Given the description of an element on the screen output the (x, y) to click on. 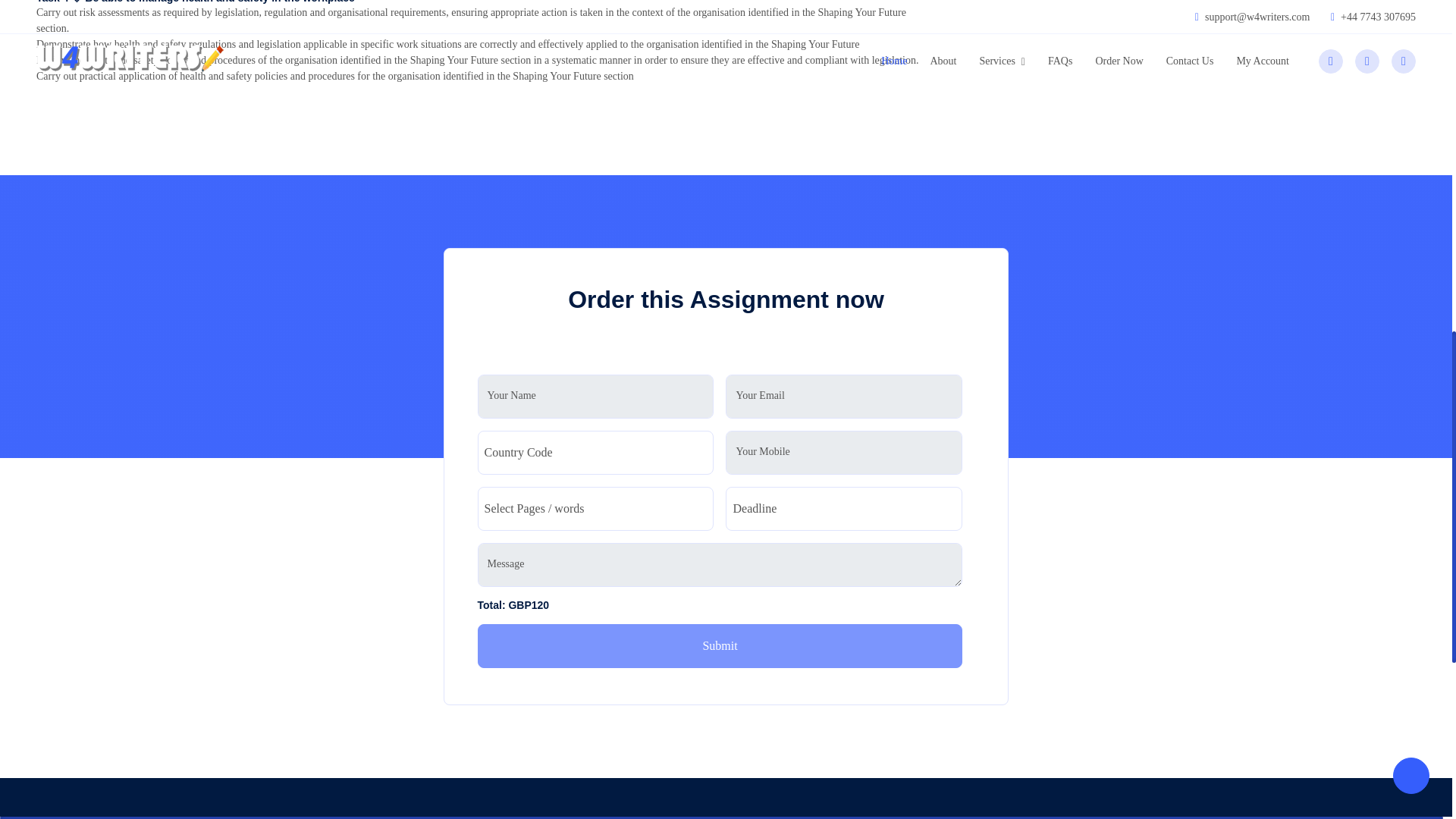
What is the difference between prejudice and discrimination? (1182, 2)
Read More (1070, 382)
Read More (1070, 247)
Read More (1070, 37)
Submit (719, 646)
Read More (1070, 472)
